Given the description of an element on the screen output the (x, y) to click on. 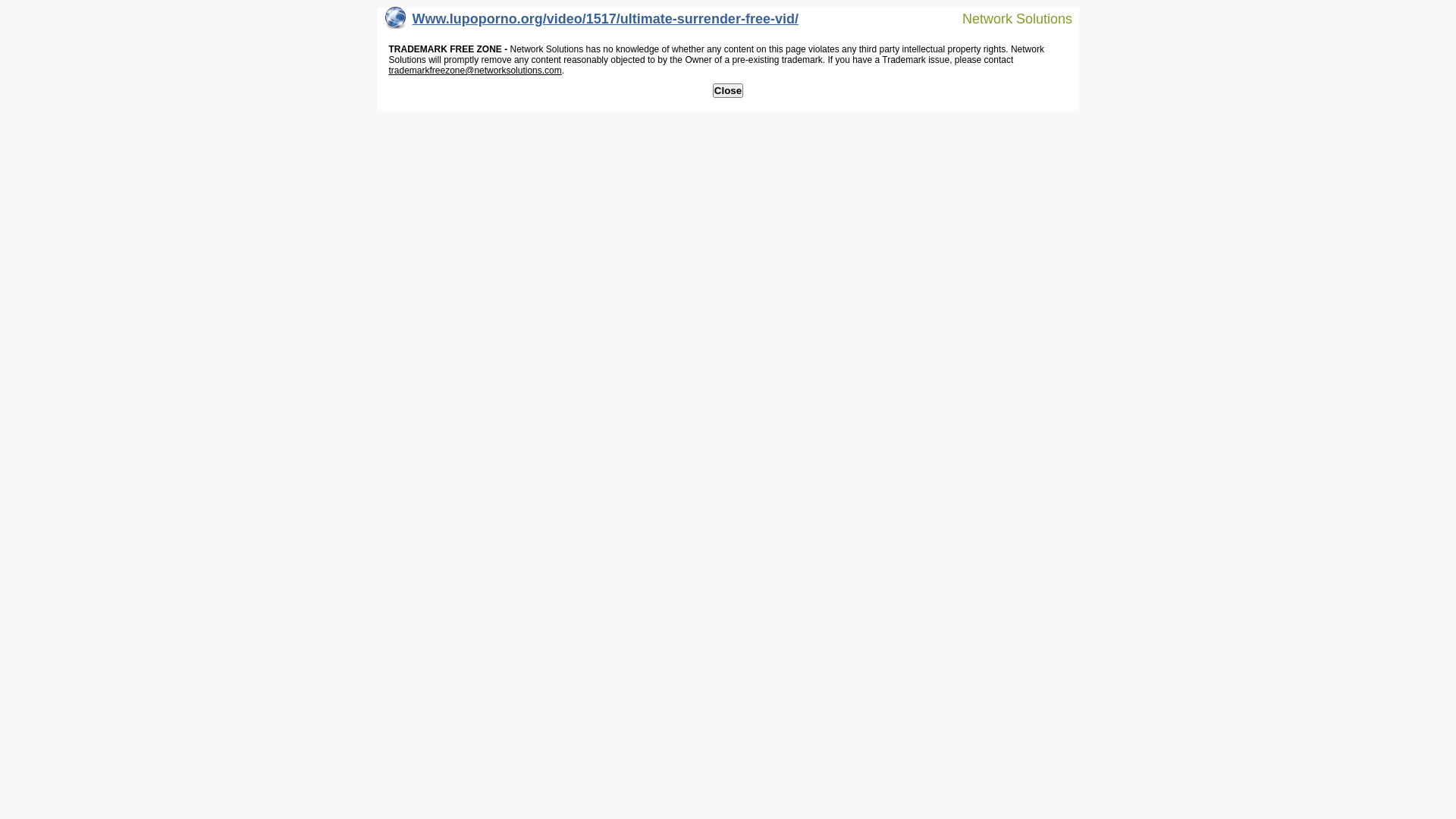
Network Solutions Element type: text (1007, 17)
trademarkfreezone@networksolutions.com Element type: text (474, 70)
Www.lupoporno.org/video/1517/ultimate-surrender-free-vid/ Element type: text (591, 21)
Close Element type: text (727, 90)
